Given the description of an element on the screen output the (x, y) to click on. 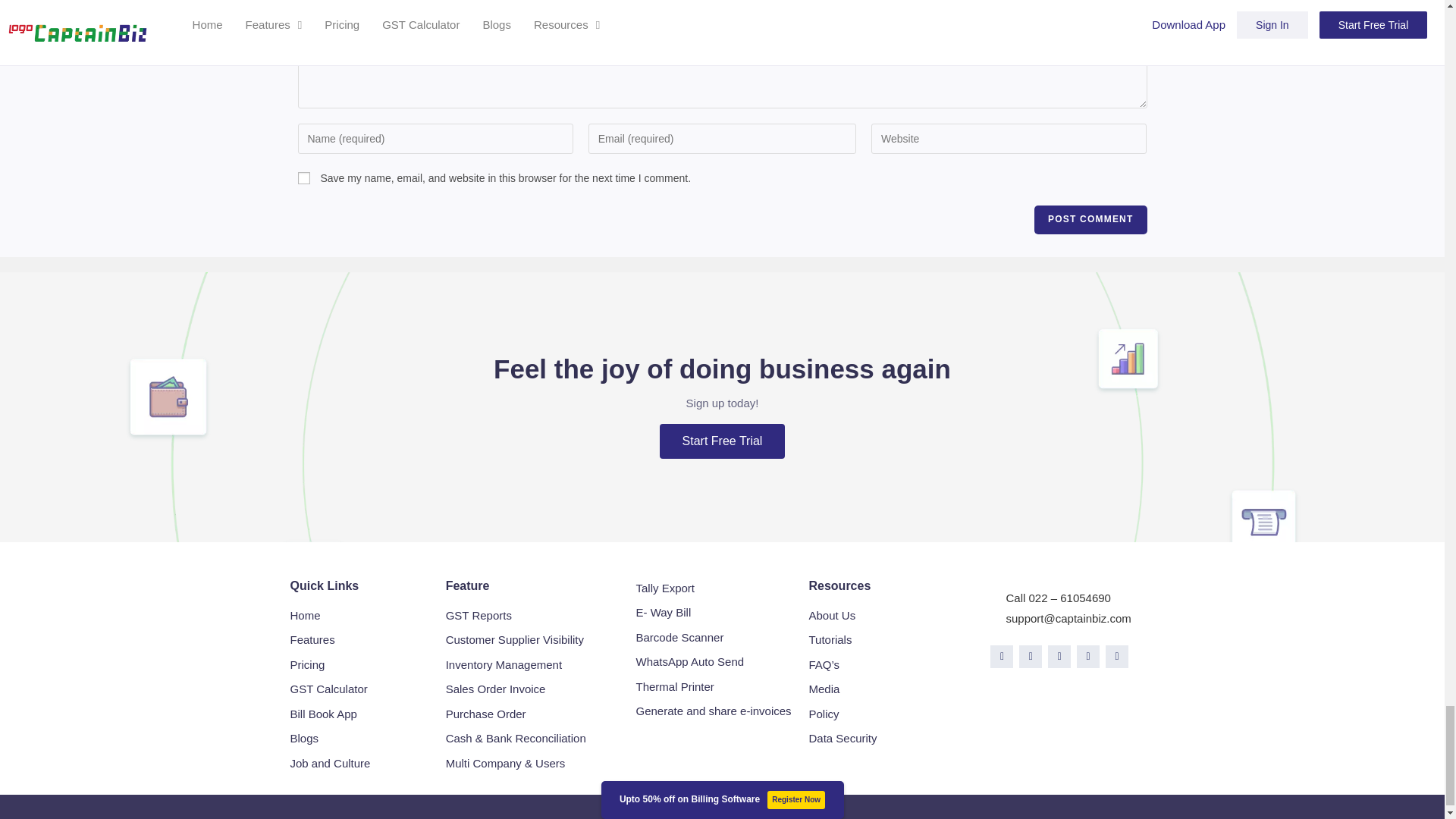
Post Comment (1090, 219)
yes (302, 177)
